Given the description of an element on the screen output the (x, y) to click on. 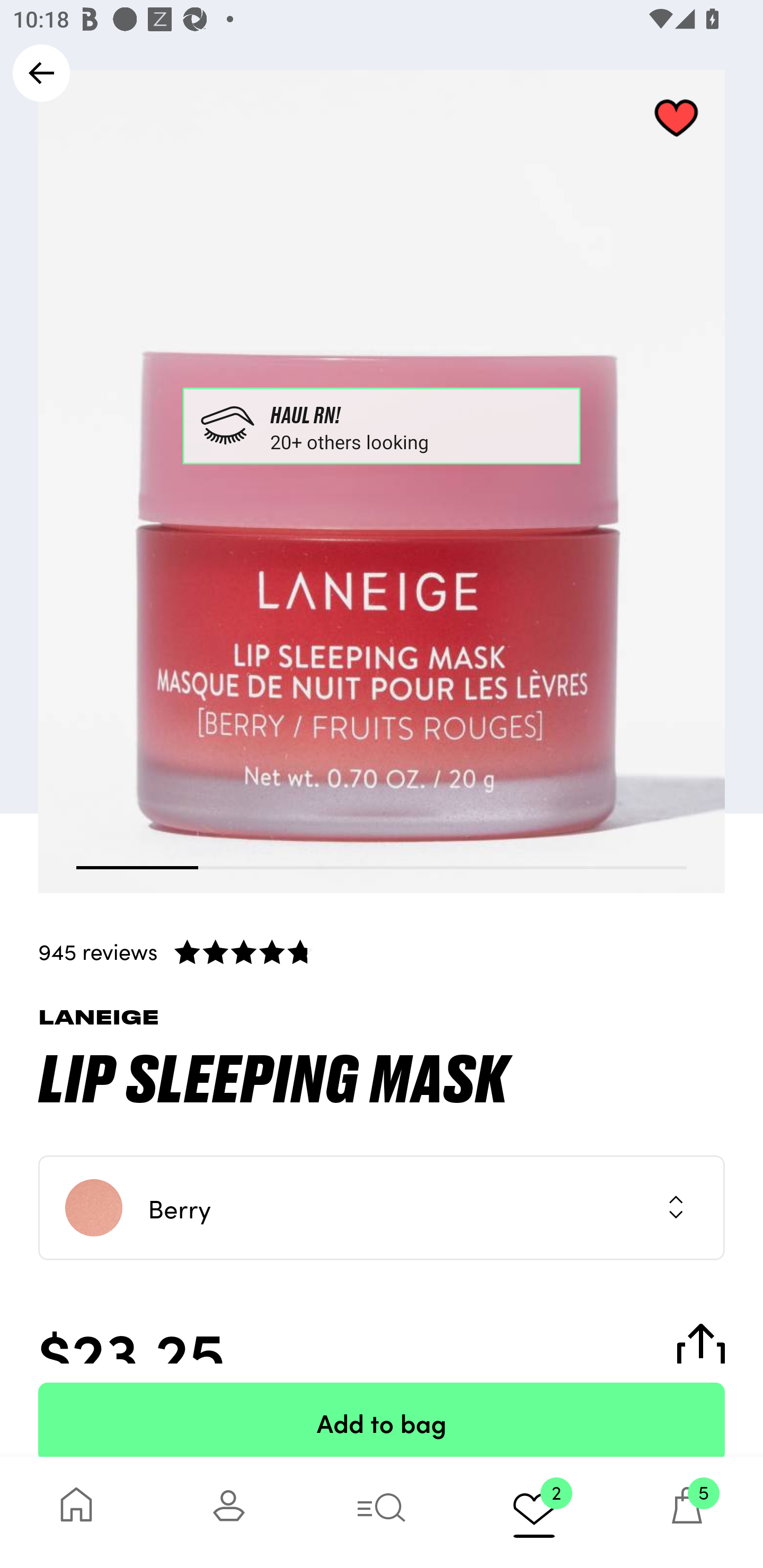
945 reviews (381, 950)
Berry  (381, 1207)
Add to bag (381, 1419)
2 (533, 1512)
5 (686, 1512)
